Given the description of an element on the screen output the (x, y) to click on. 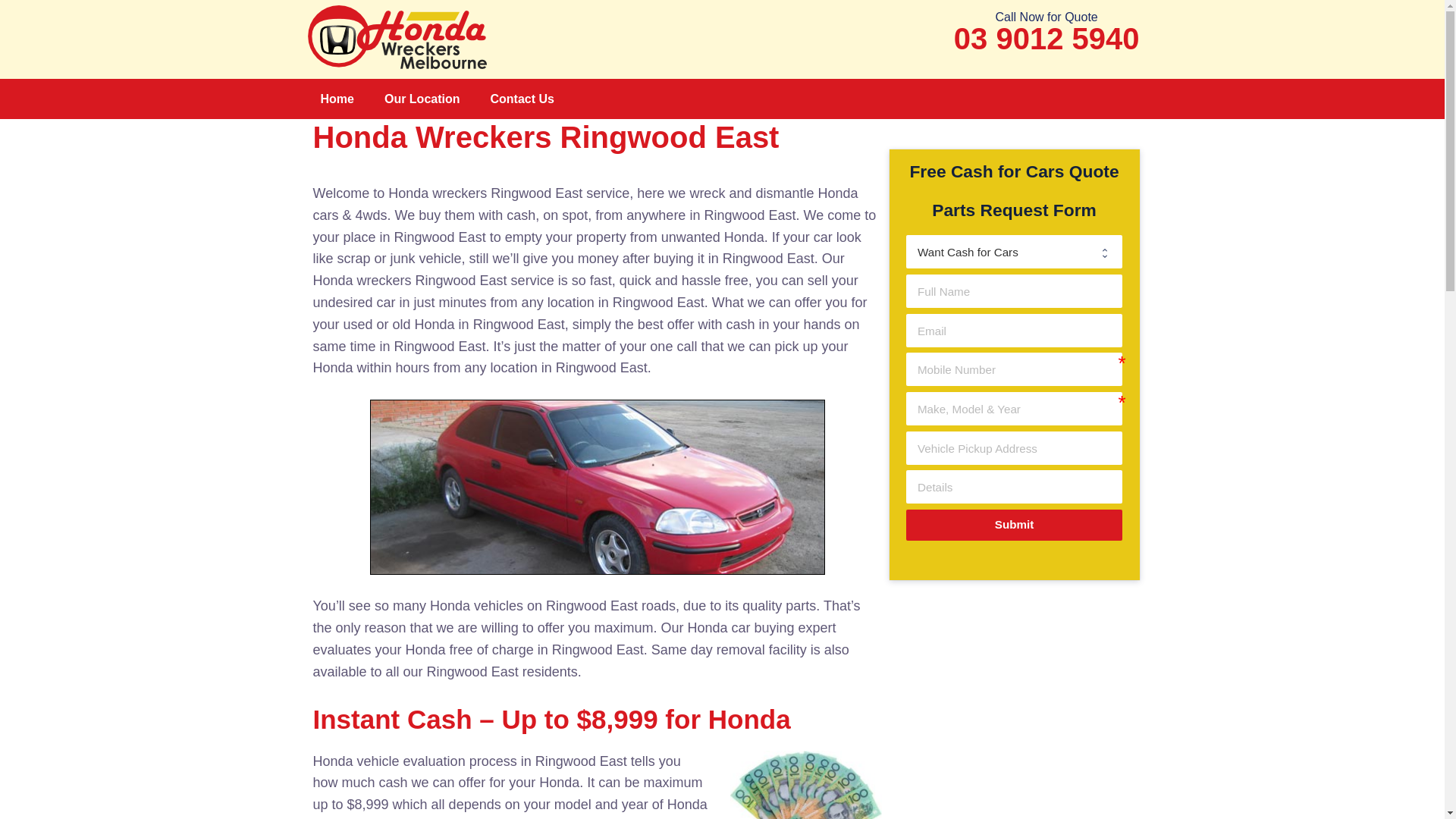
honda wreckers Ringwood East Element type: hover (597, 486)
Contact Us Element type: text (522, 98)
Our Location Element type: text (422, 98)
Honda Wreckers Melbourne Element type: hover (399, 36)
Honda Wreckers Melbourne Element type: hover (399, 35)
03 9012 5940 Element type: text (1046, 37)
Submit Element type: text (1013, 524)
Home Element type: text (336, 98)
